Given the description of an element on the screen output the (x, y) to click on. 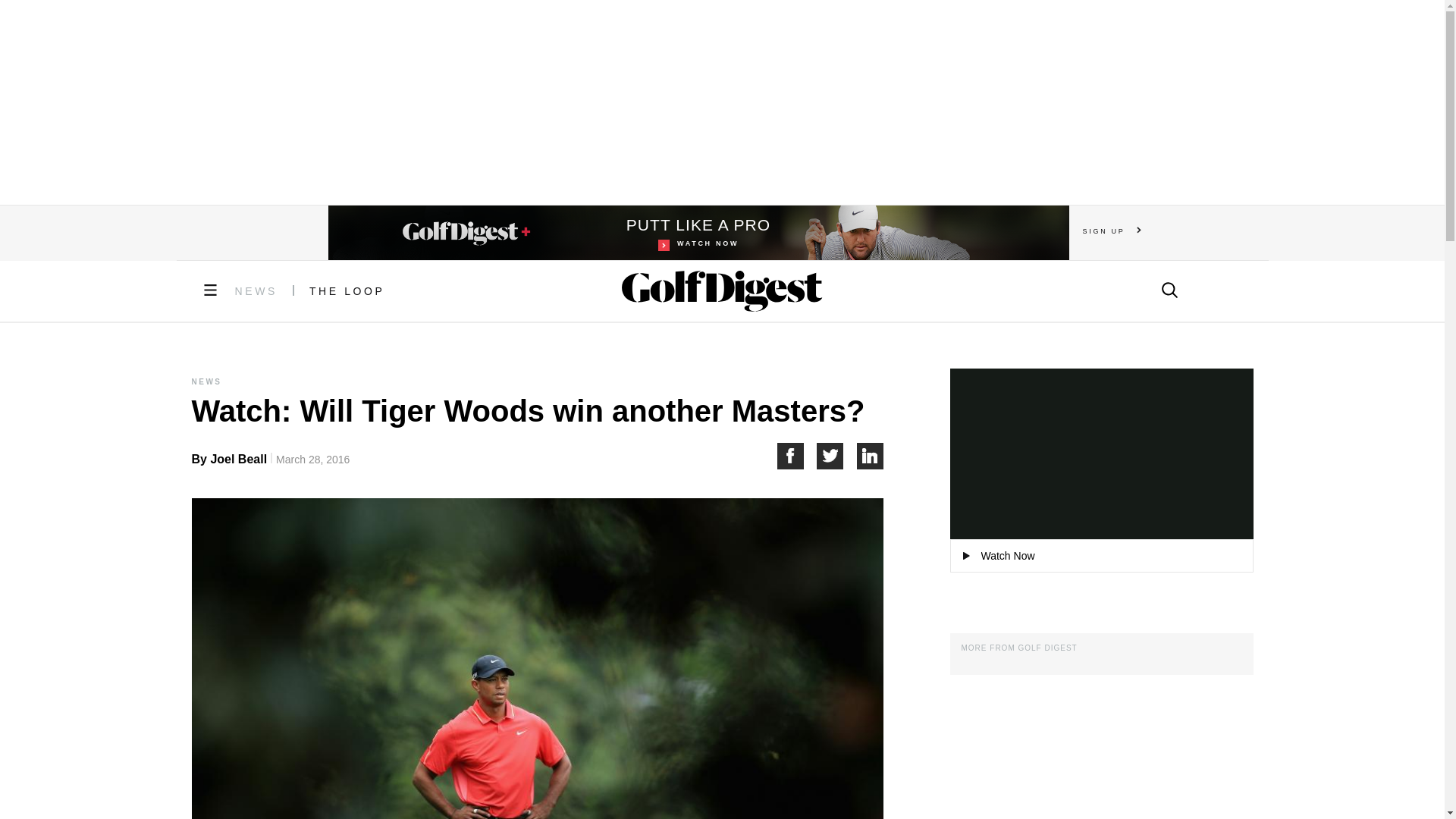
SIGN UP (1112, 230)
Share on Facebook (796, 456)
Share on LinkedIn (697, 232)
THE LOOP (870, 456)
Share on Twitter (346, 291)
NEWS (836, 456)
